Given the description of an element on the screen output the (x, y) to click on. 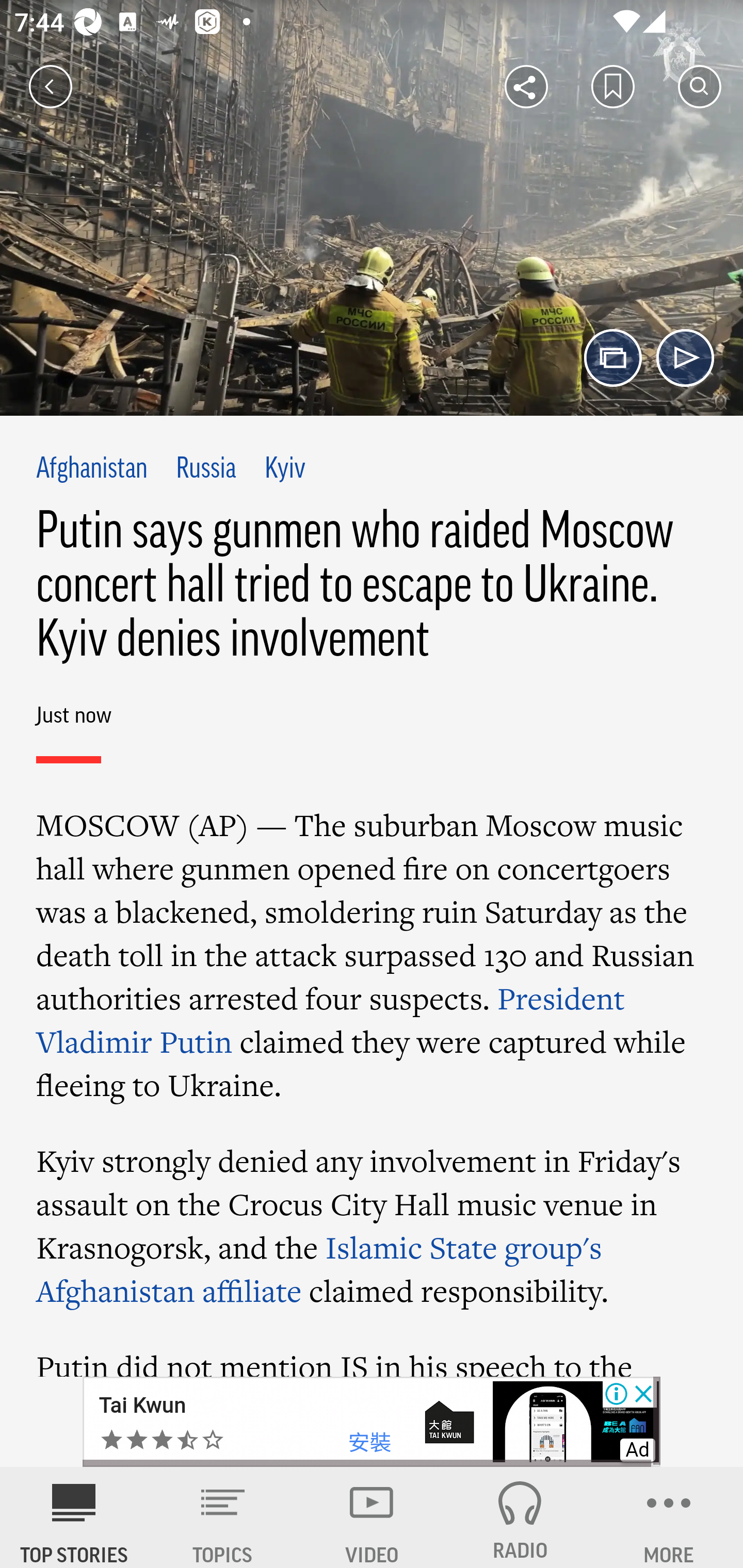
AP News TOP STORIES (74, 1517)
TOPICS (222, 1517)
VIDEO (371, 1517)
RADIO (519, 1517)
MORE (668, 1517)
